Given the description of an element on the screen output the (x, y) to click on. 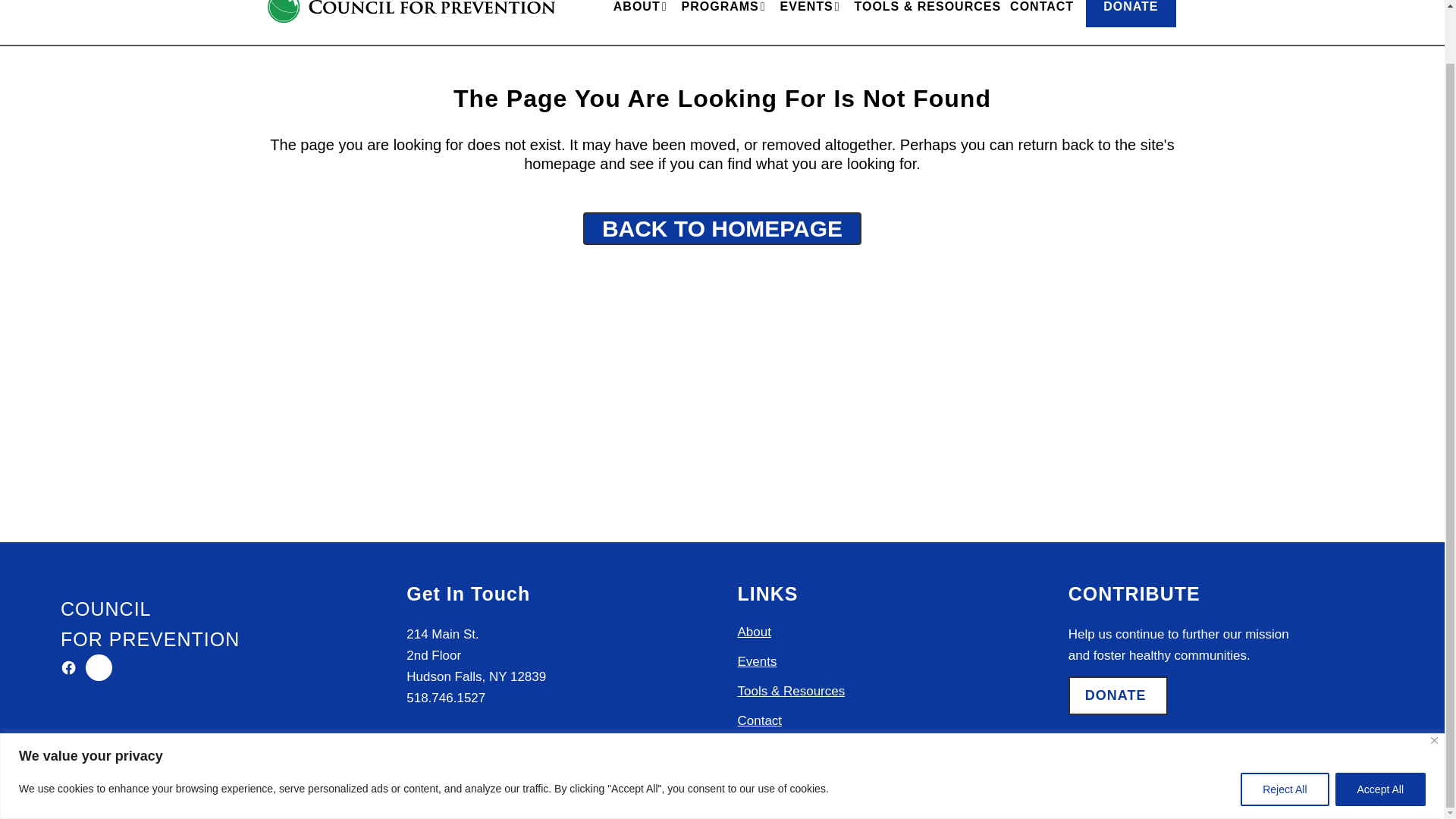
EVENTS (813, 22)
PROGRAMS (726, 22)
DONATE (1130, 13)
ABOUT (642, 22)
Accept All (1380, 730)
Reject All (1283, 730)
CONTACT (1042, 22)
